Given the description of an element on the screen output the (x, y) to click on. 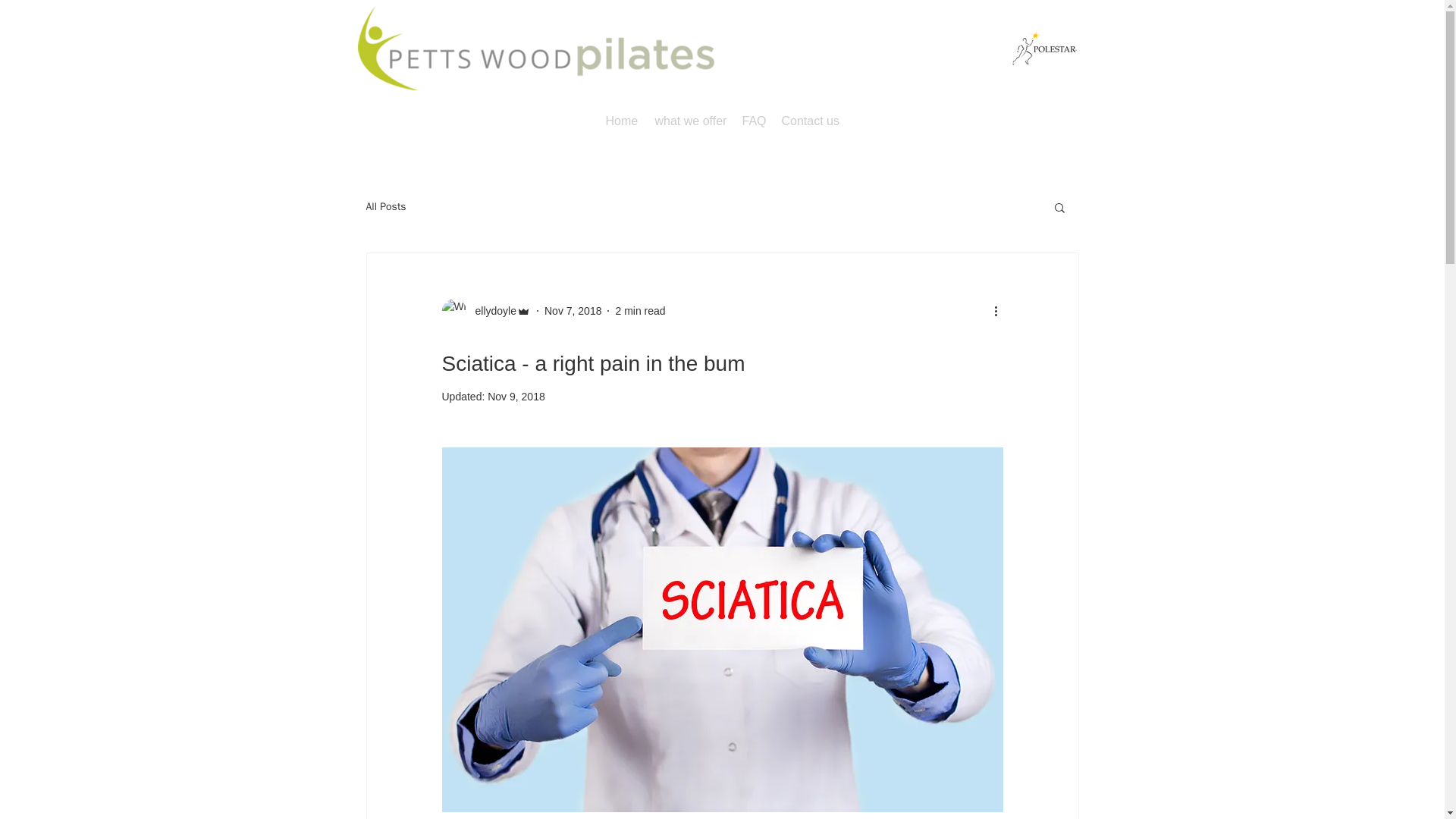
what we offer (691, 120)
FAQ (753, 120)
ellydoyle (490, 311)
Home (621, 120)
Nov 9, 2018 (515, 396)
2 min read (639, 310)
ellydoyle (485, 310)
Contact us (809, 120)
All Posts (385, 206)
Nov 7, 2018 (573, 310)
